Given the description of an element on the screen output the (x, y) to click on. 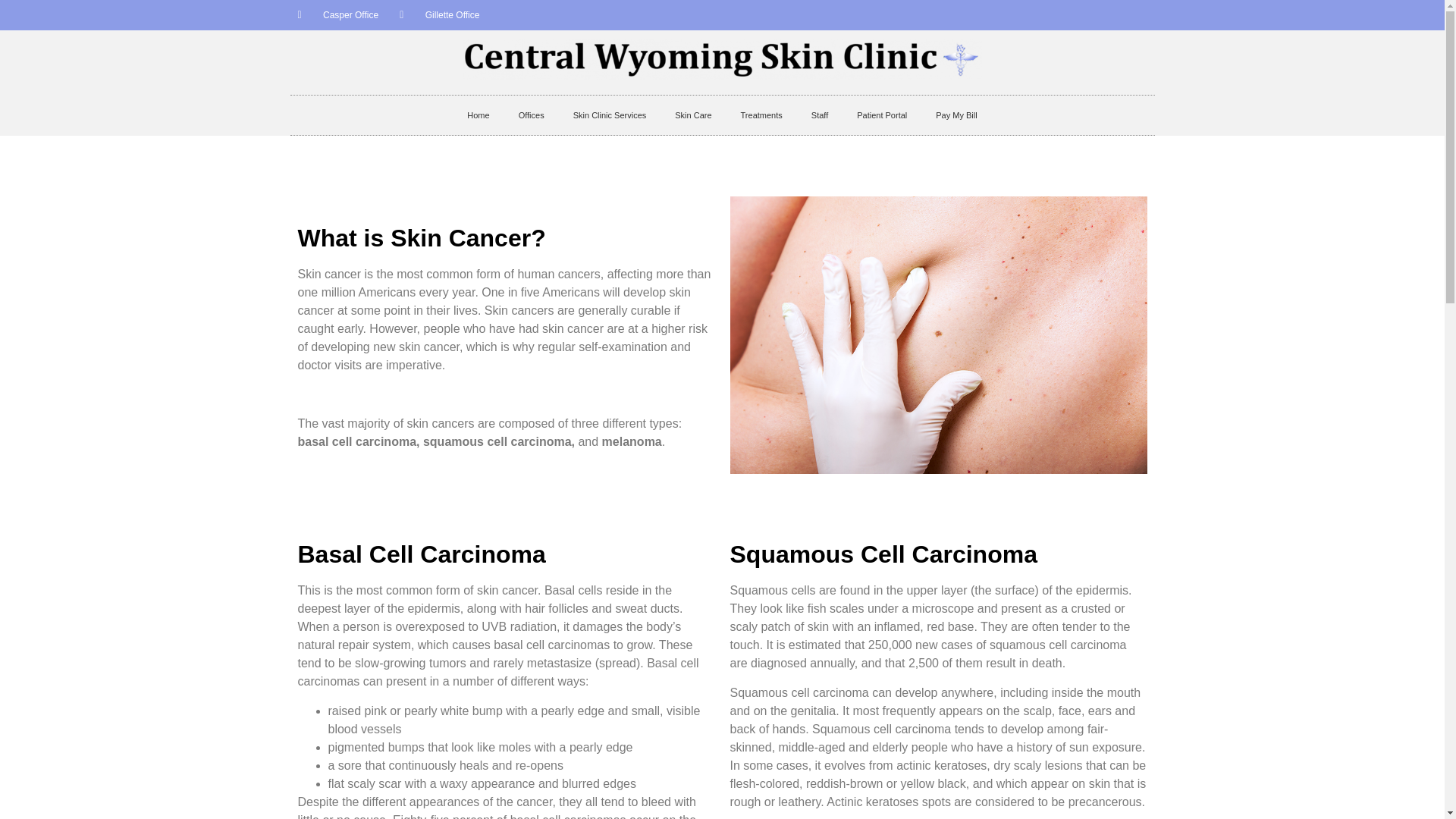
Gillette Office (438, 15)
Casper Office (337, 15)
Home (477, 115)
Patient Portal (882, 115)
Skin Care (693, 115)
Offices (531, 115)
Treatments (761, 115)
Pay My Bill (956, 115)
Skin Clinic Services (610, 115)
Staff (819, 115)
